Given the description of an element on the screen output the (x, y) to click on. 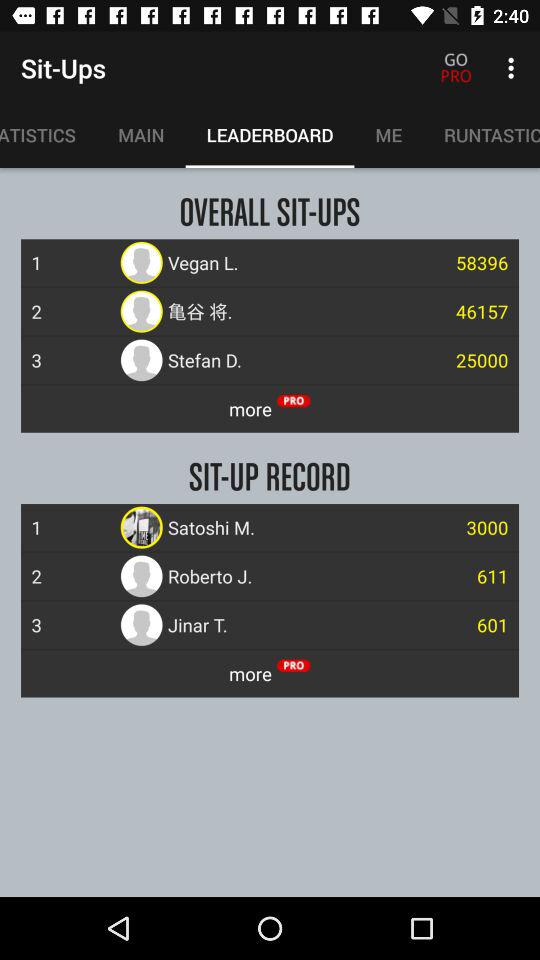
click item above overall sit-ups (388, 135)
